Given the description of an element on the screen output the (x, y) to click on. 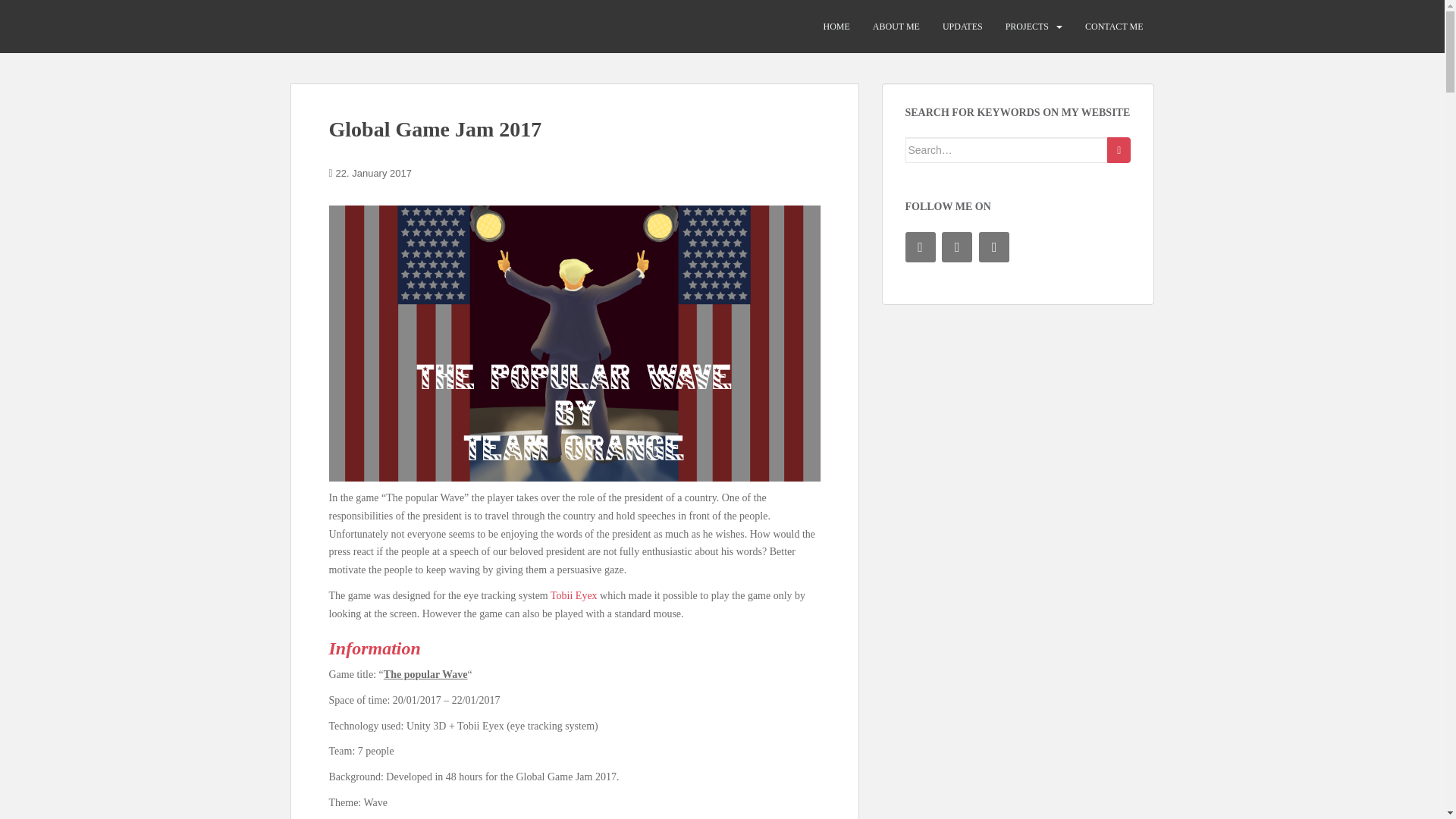
22. January 2017 (374, 173)
Tobii Eyex (574, 595)
UPDATES (962, 26)
PROJECTS (1027, 26)
CONTACT ME (1113, 26)
Global Game Jam 2017 (435, 128)
Lars Engel (336, 26)
ABOUT ME (896, 26)
Search for: (1006, 149)
Lars Engel (336, 26)
